Given the description of an element on the screen output the (x, y) to click on. 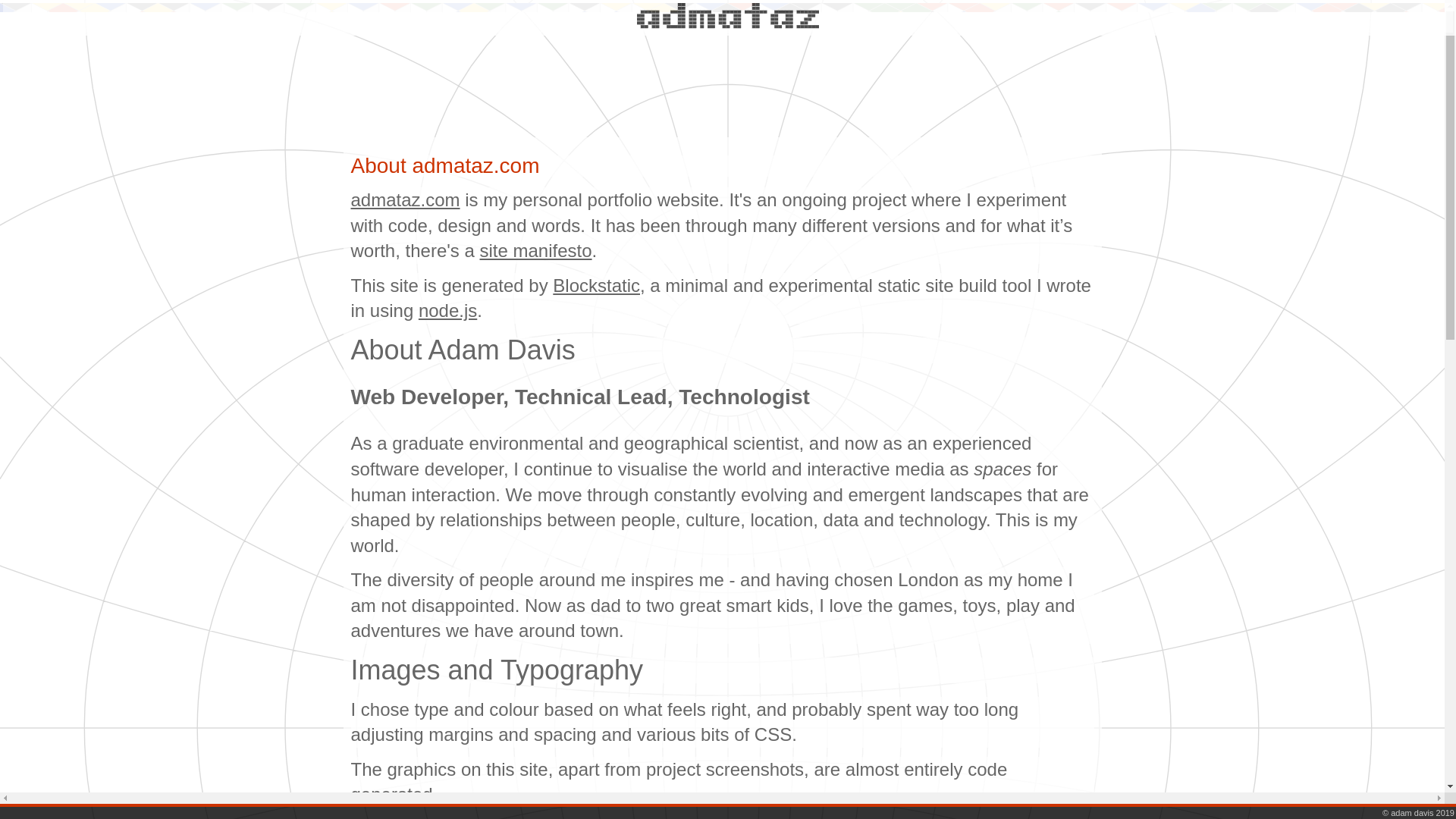
admataz.com (405, 199)
Blockstatic (596, 285)
node.js (448, 310)
site manifesto (535, 250)
